Given the description of an element on the screen output the (x, y) to click on. 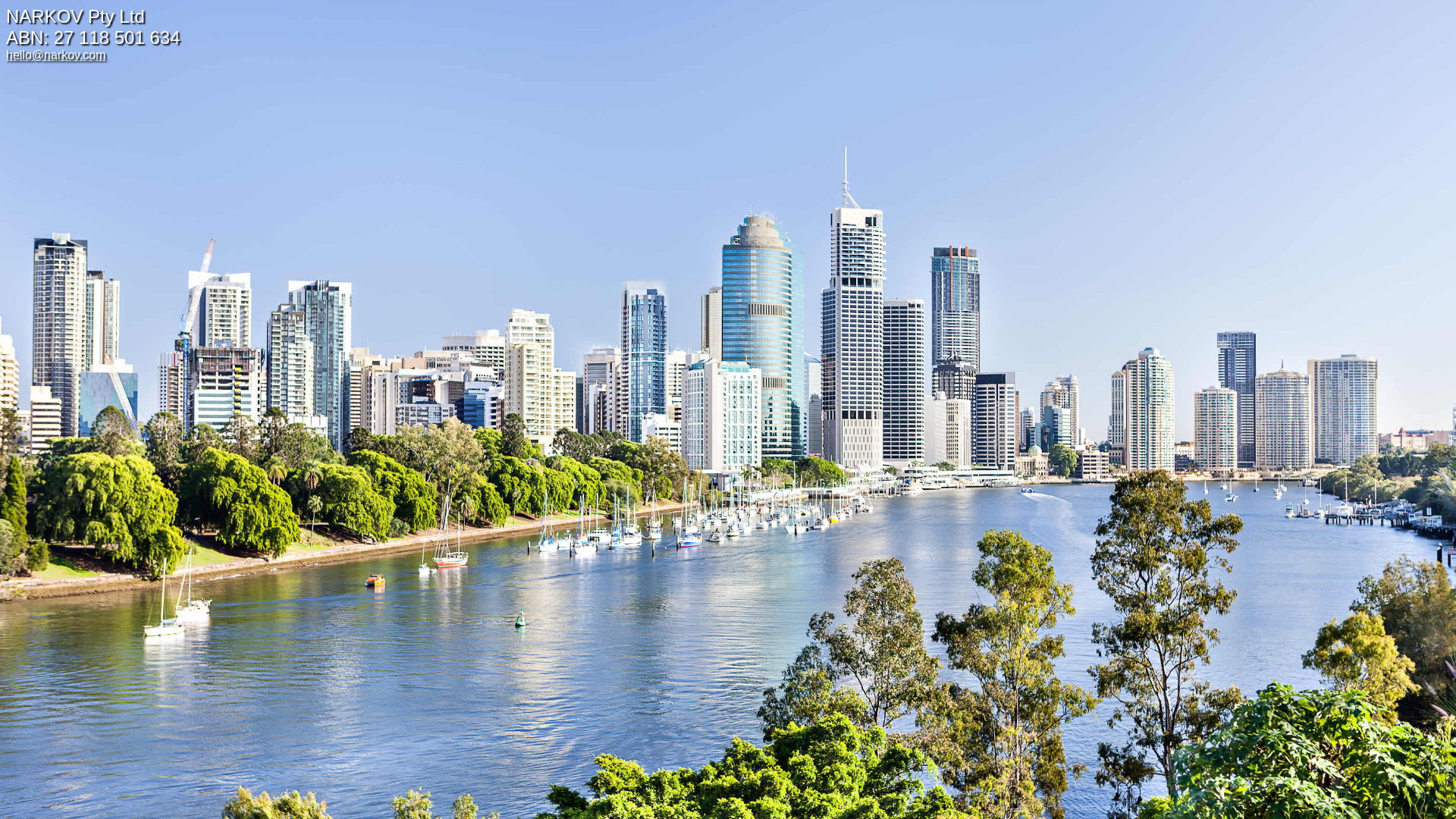
hello@narkov.com Element type: text (56, 54)
